Given the description of an element on the screen output the (x, y) to click on. 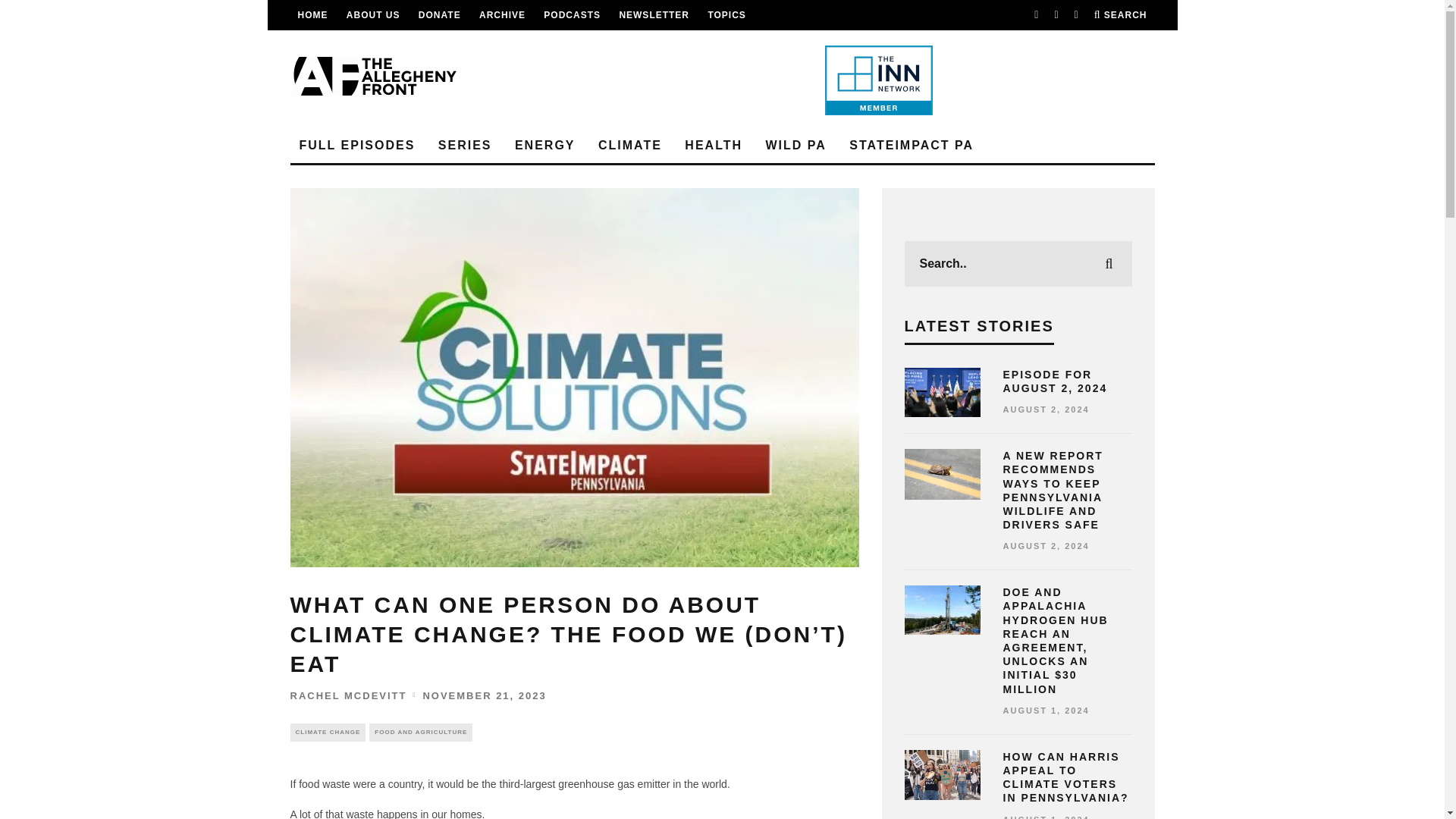
Search (1120, 15)
PODCASTS (571, 15)
ABOUT US (373, 15)
HOME (312, 15)
NEWSLETTER (653, 15)
View all posts in Climate Change (327, 732)
TOPICS (726, 15)
View all posts in Food and Agriculture (420, 732)
ARCHIVE (502, 15)
SEARCH (1120, 15)
DONATE (440, 15)
